Given the description of an element on the screen output the (x, y) to click on. 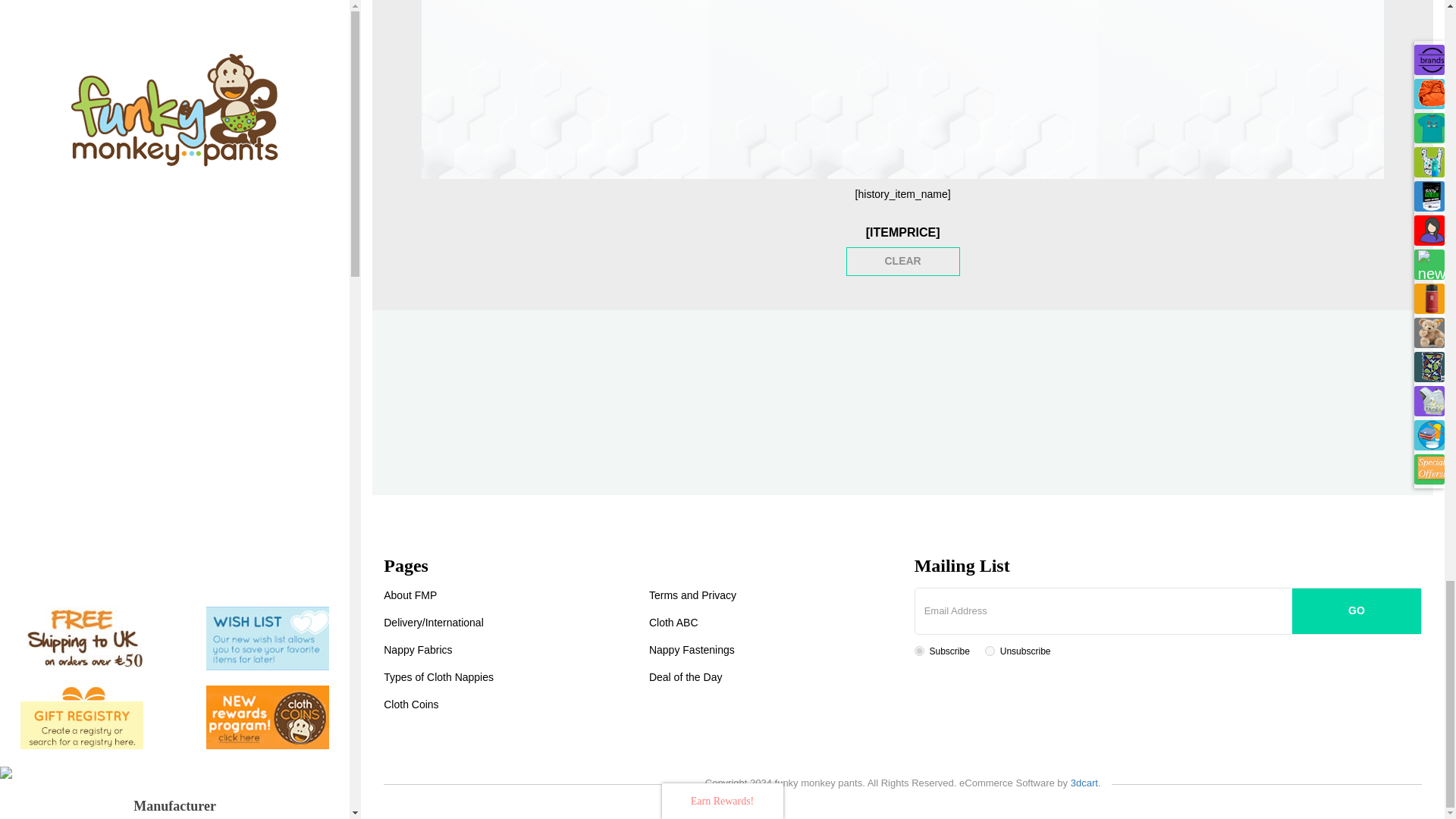
Like Us on Facebook (853, 396)
Follow Us on Pinterest (948, 396)
1 (919, 651)
One Green Bottle 350ml curvy bottle with new sports cap (219, 4)
0 (989, 651)
Follow Us on Twitter (900, 396)
